Given the description of an element on the screen output the (x, y) to click on. 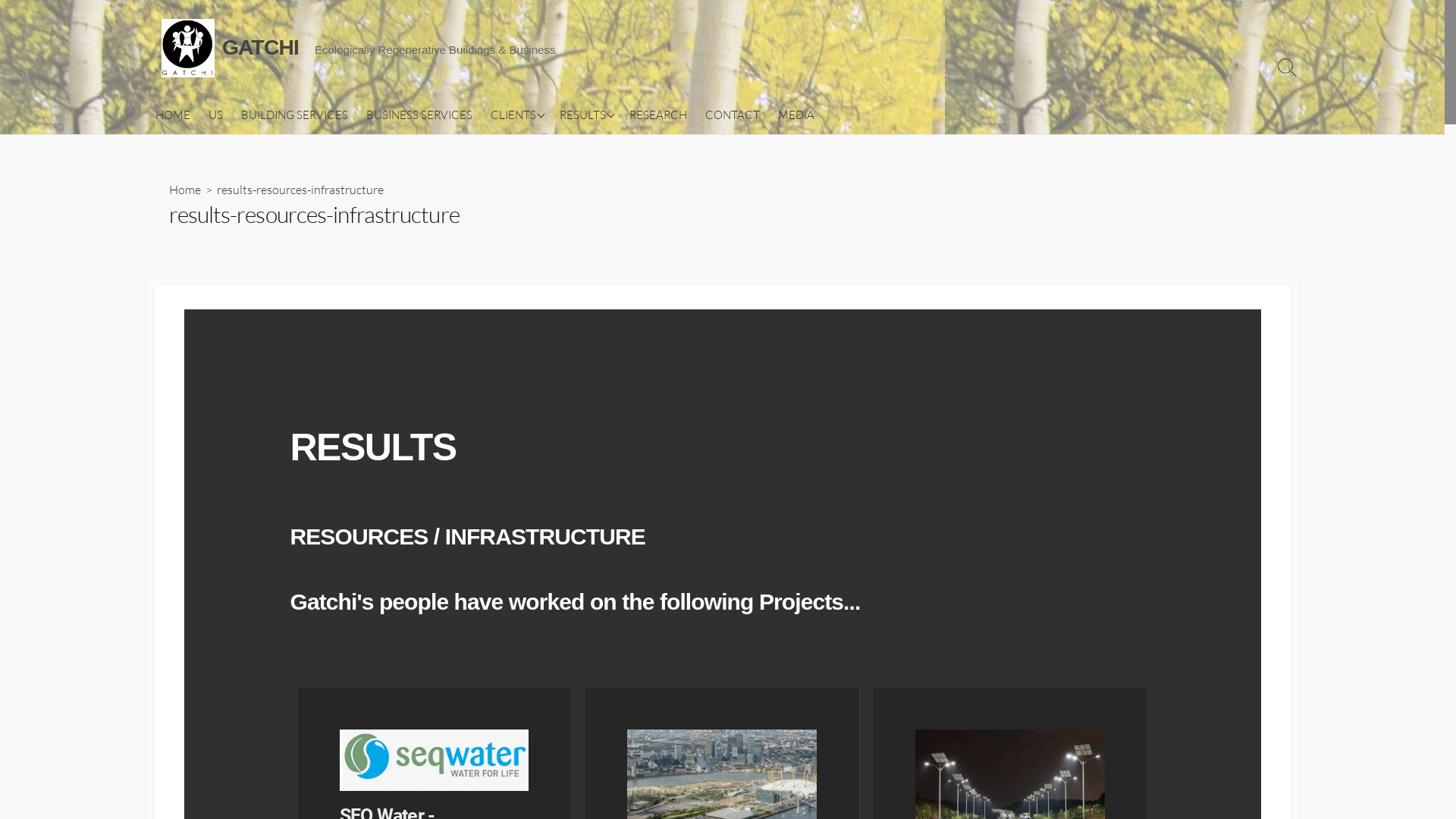
Governments/Councils Element type: text (556, 194)
Homes Element type: text (626, 112)
Businesses Element type: text (556, 249)
RESEARCH Element type: text (658, 115)
Businesses Element type: text (626, 249)
Developers Element type: text (626, 139)
RESULTS Element type: text (585, 115)
CLIENTS Element type: text (514, 115)
Architects Element type: text (556, 167)
Resources/Infrastructure Element type: text (626, 221)
GATCHI Element type: text (260, 47)
Resources/Infrastructure Element type: text (556, 221)
US Element type: text (214, 115)
HOME Element type: text (171, 115)
BUILDING SERVICES Element type: text (294, 115)
Architects Element type: text (626, 167)
CONTACT Element type: text (732, 115)
Homes Element type: text (556, 112)
Government/Councils Element type: text (626, 194)
Home Element type: text (184, 189)
MEDIA Element type: text (795, 115)
BUSINESS SERVICES Element type: text (418, 115)
GATCHI Element type: hover (186, 47)
Developers Element type: text (556, 139)
